Given the description of an element on the screen output the (x, y) to click on. 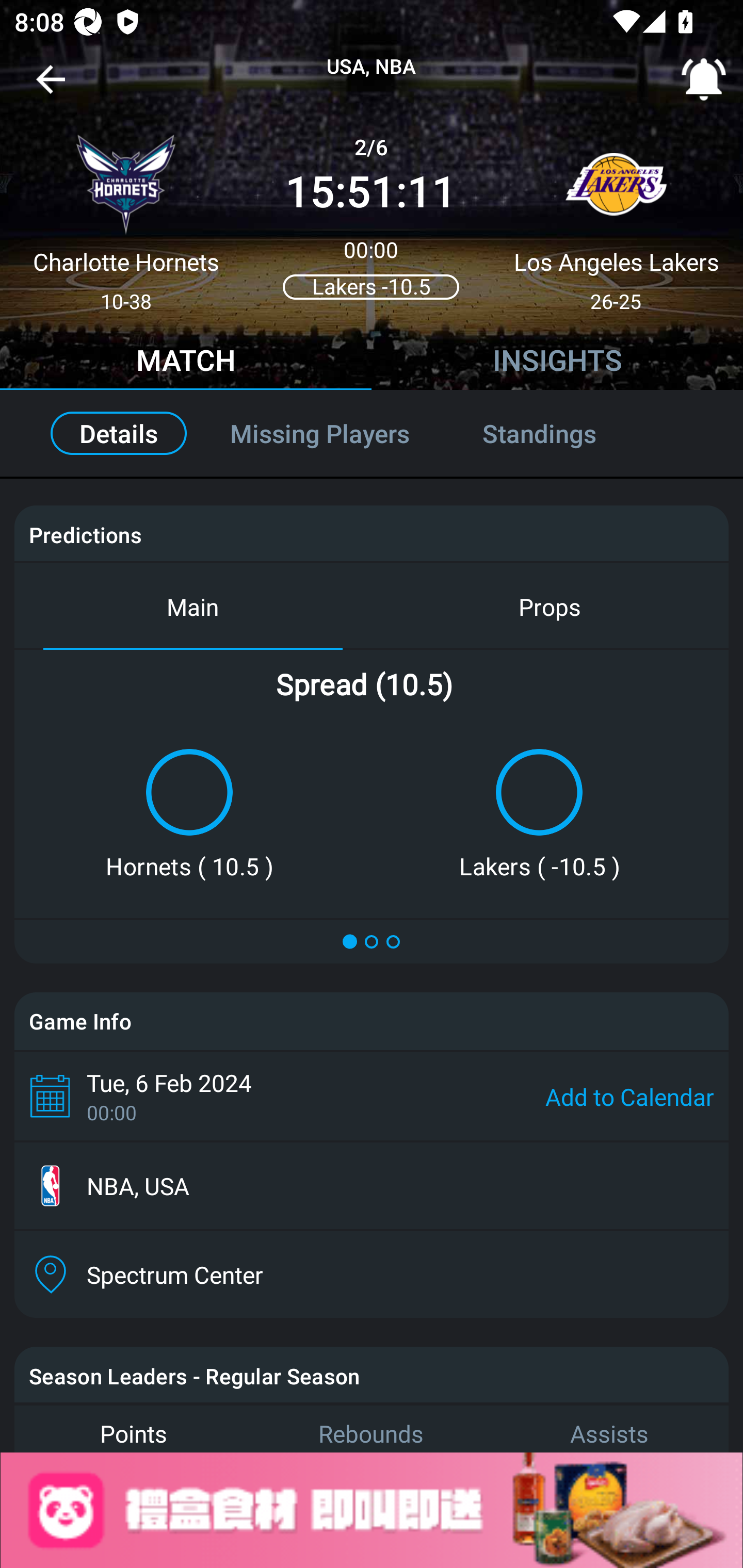
Navigate up (50, 86)
USA, NBA (371, 66)
Charlotte Hornets 10-38 (126, 214)
Los Angeles Lakers 26-25 (616, 214)
MATCH (185, 362)
INSIGHTS (557, 362)
Missing Players (319, 433)
Standings (561, 433)
Predictions (85, 534)
Props (549, 605)
Game Info (371, 1021)
Tue, 6 Feb 2024 00:00 Add to Calendar (371, 1095)
NBA, USA (371, 1186)
Spectrum Center (371, 1273)
Rebounds (371, 1427)
Assists (609, 1427)
Advertisement (371, 1509)
